Given the description of an element on the screen output the (x, y) to click on. 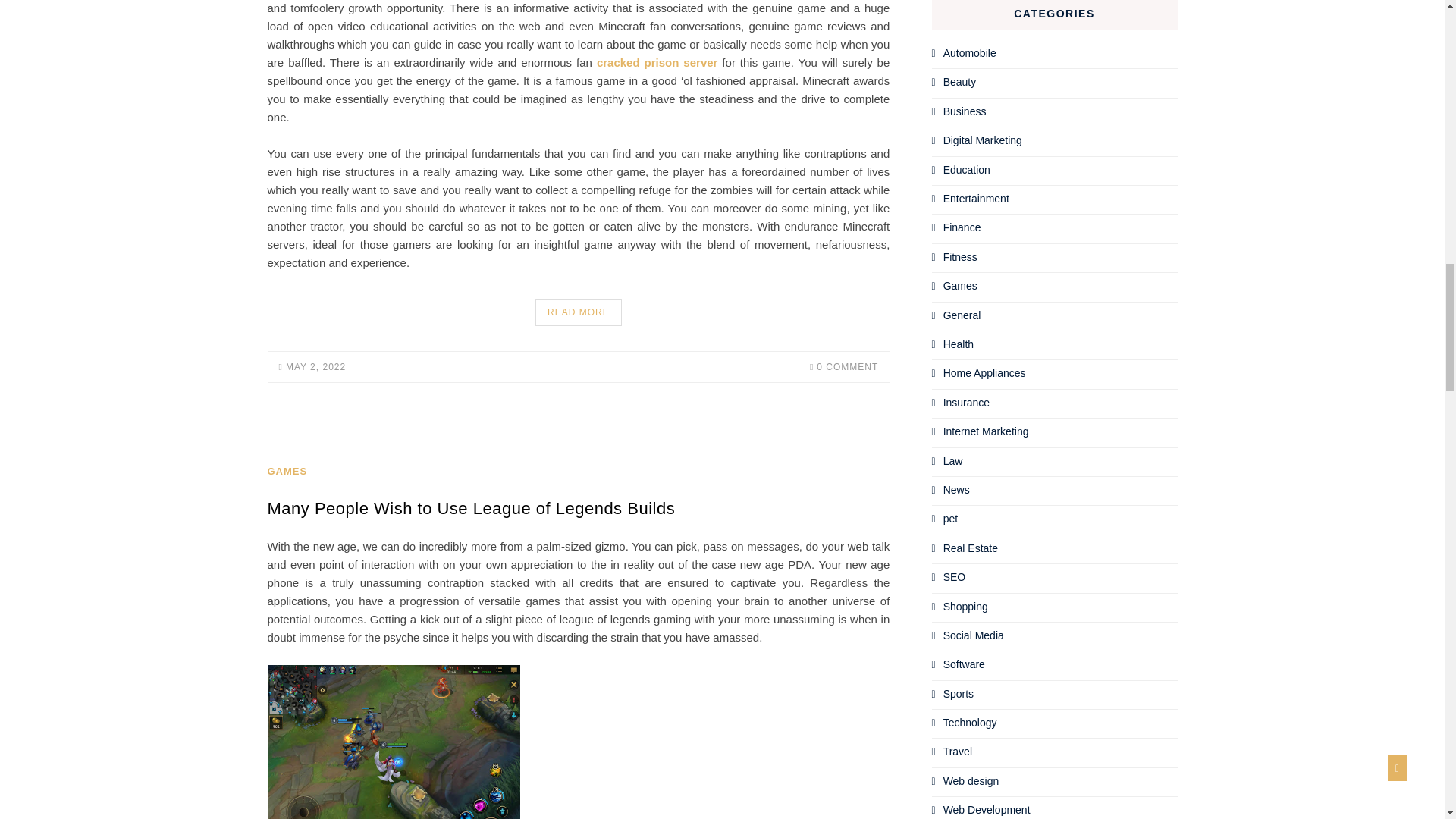
0 COMMENT (843, 366)
Many People Wish to Use League of Legends Builds (470, 507)
cracked prison server (656, 62)
Many People Wish to Use League of Legends Builds (470, 507)
GAMES (286, 471)
READ MORE (578, 311)
